Given the description of an element on the screen output the (x, y) to click on. 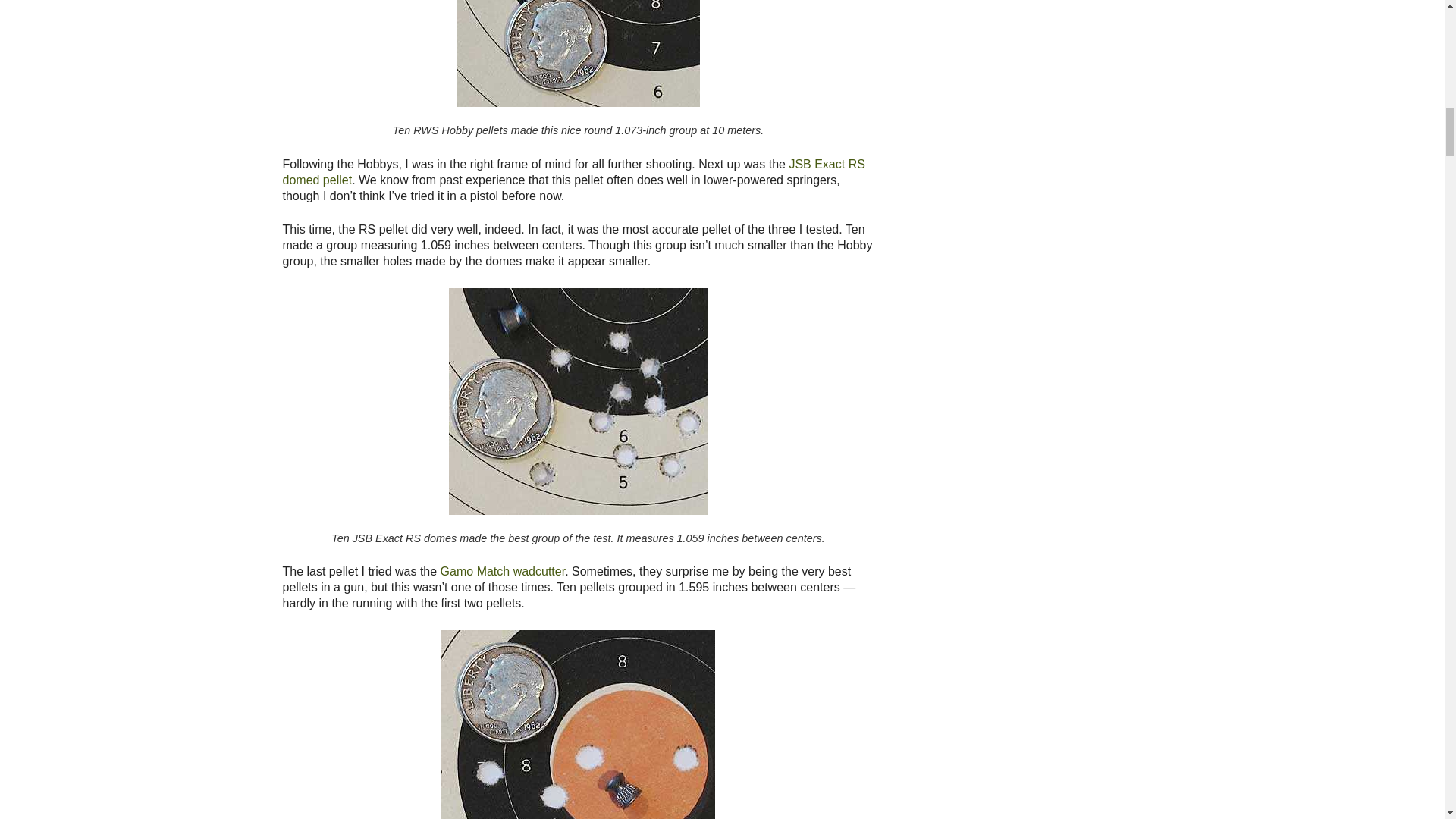
JSB Exact RS domed pellet (573, 172)
Gamo Match wadcutter (503, 571)
